Given the description of an element on the screen output the (x, y) to click on. 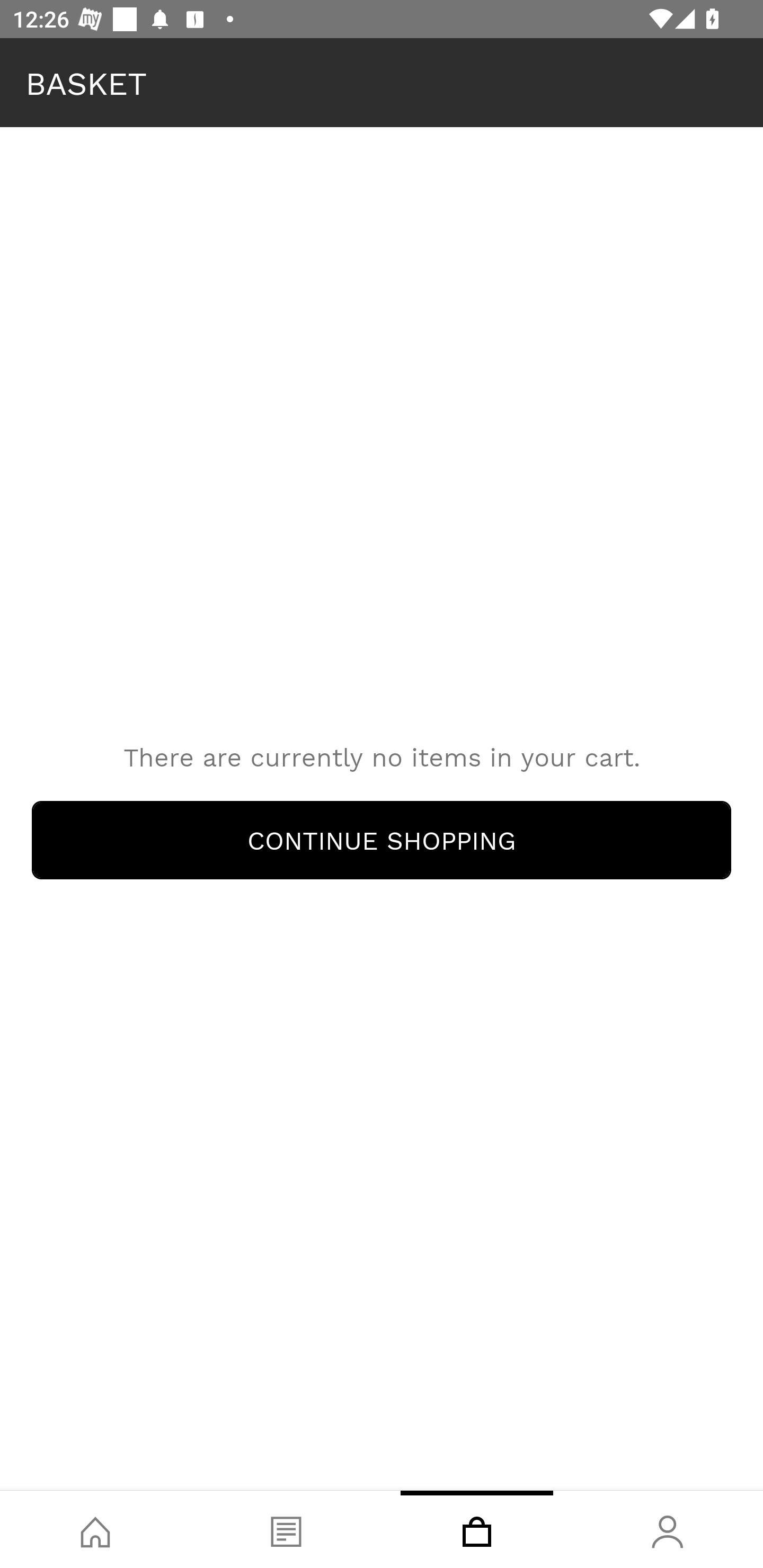
Continue Shopping CONTINUE SHOPPING (381, 840)
Shop, tab, 1 of 4 (95, 1529)
Blog, tab, 2 of 4 (285, 1529)
Basket, tab, 3 of 4 (476, 1529)
Account, tab, 4 of 4 (667, 1529)
